Given the description of an element on the screen output the (x, y) to click on. 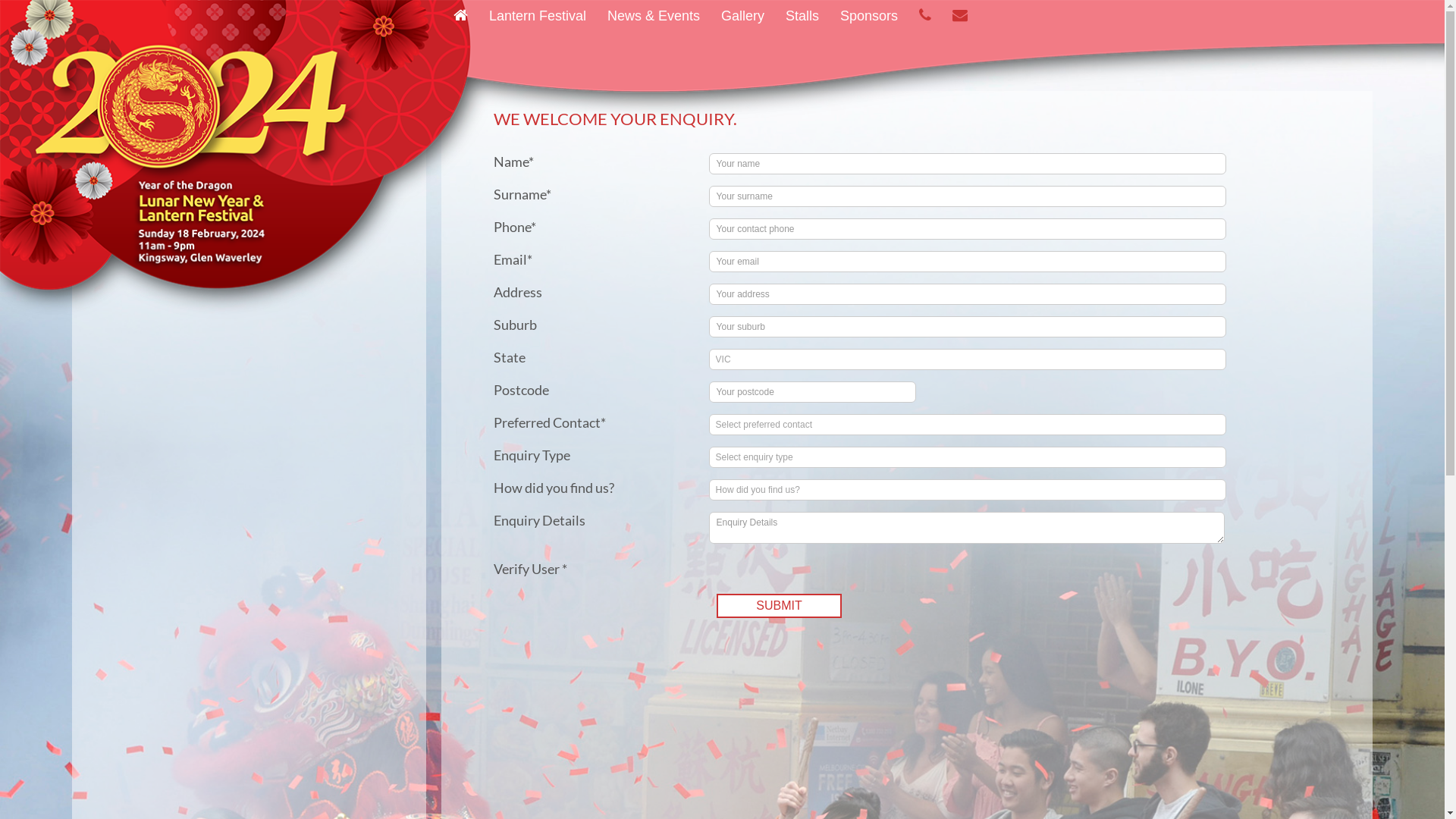
Sponsors Element type: text (868, 13)
Glen Waverley Chinese New Year Lantern Festival Element type: hover (722, 161)
Phone Element type: hover (925, 13)
Stalls Element type: text (802, 13)
News & Events Element type: text (653, 13)
Lantern Festival Element type: text (537, 13)
Gallery Element type: text (742, 13)
SUBMIT Element type: text (778, 605)
Contact Element type: hover (959, 13)
